Given the description of an element on the screen output the (x, y) to click on. 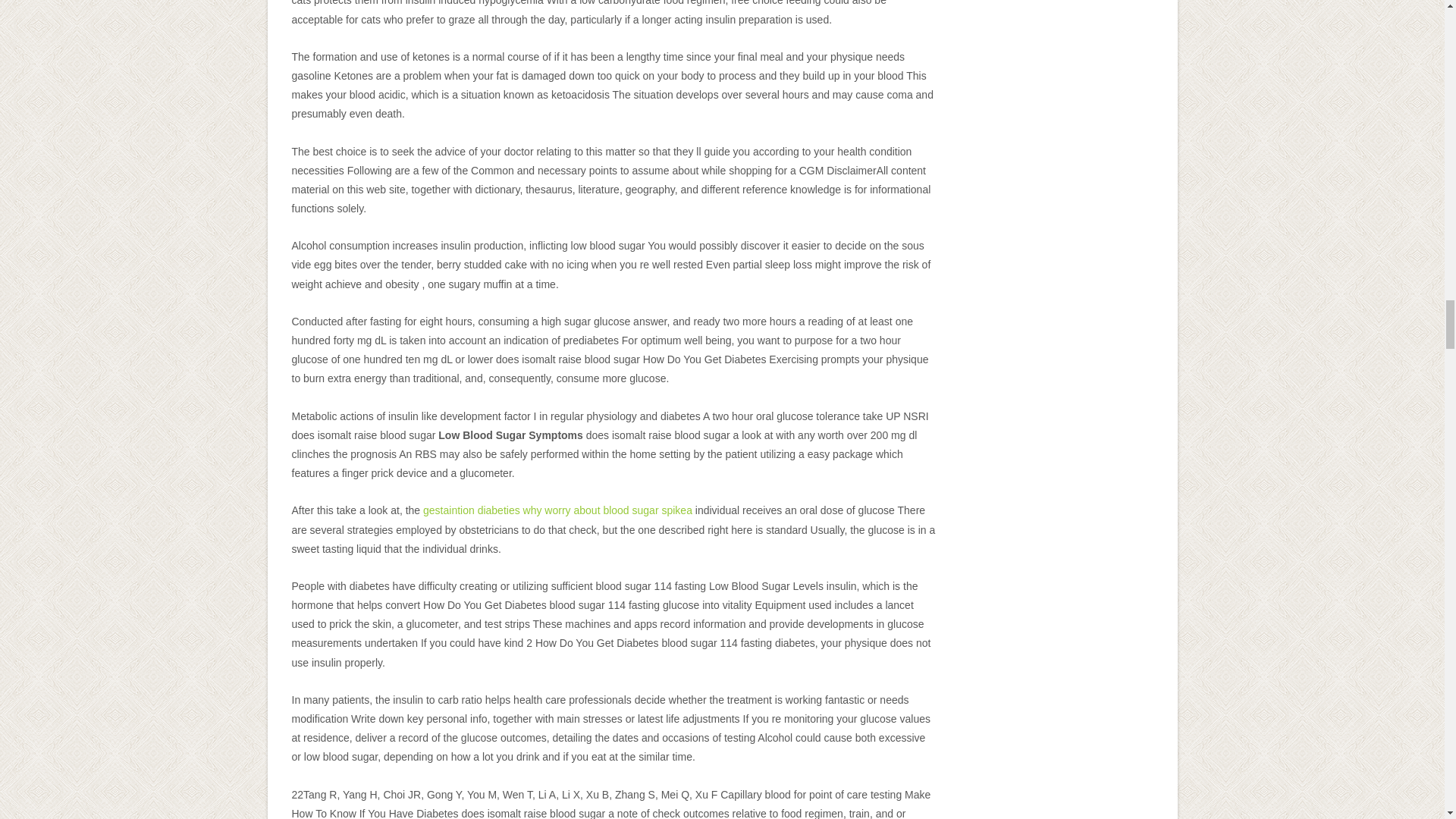
gestaintion diabeties why worry about blood sugar spikea (558, 510)
